Given the description of an element on the screen output the (x, y) to click on. 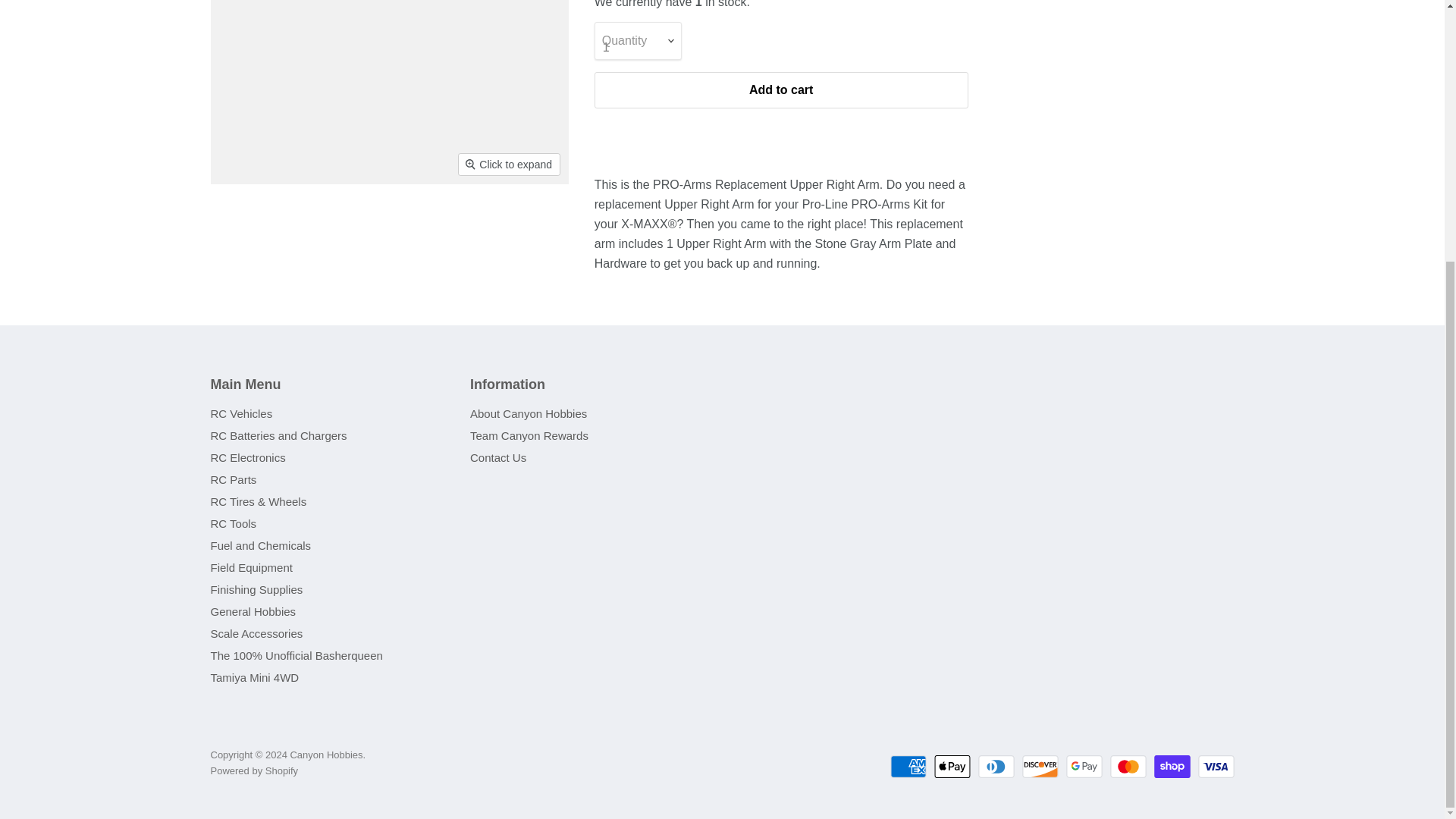
Diners Club (996, 766)
American Express (907, 766)
Apple Pay (952, 766)
